Given the description of an element on the screen output the (x, y) to click on. 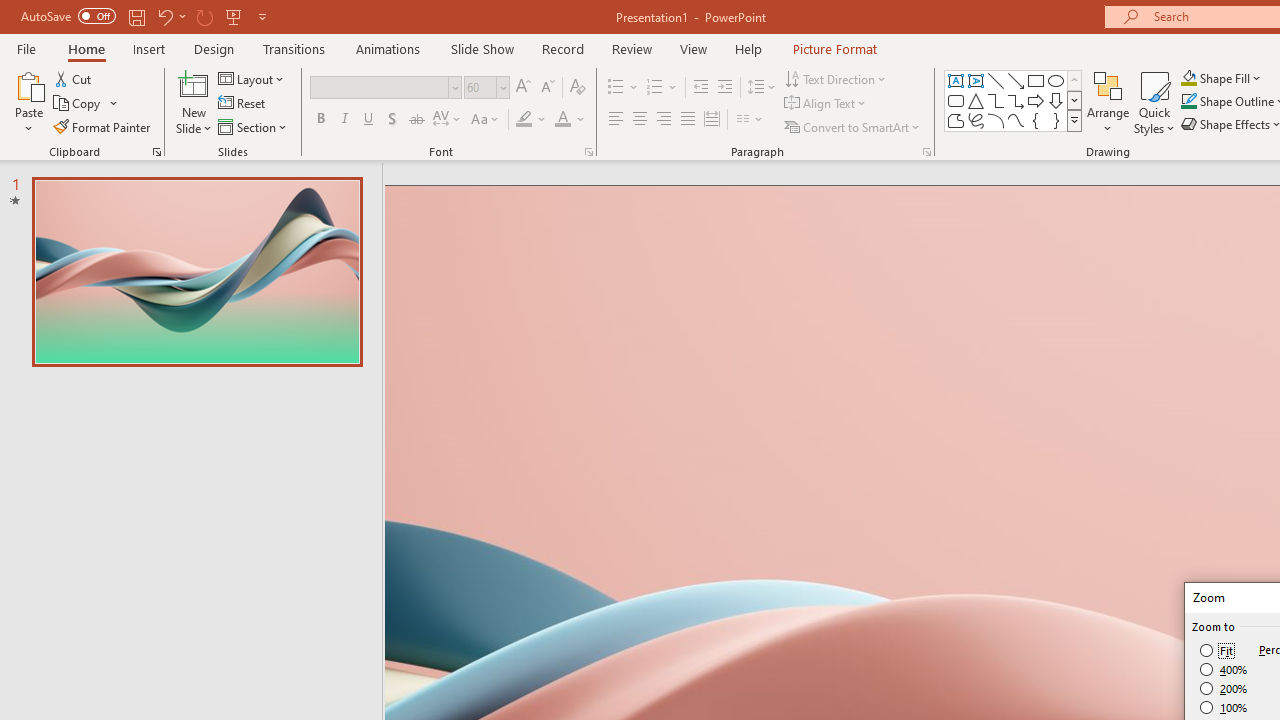
200% (1224, 688)
